Given the description of an element on the screen output the (x, y) to click on. 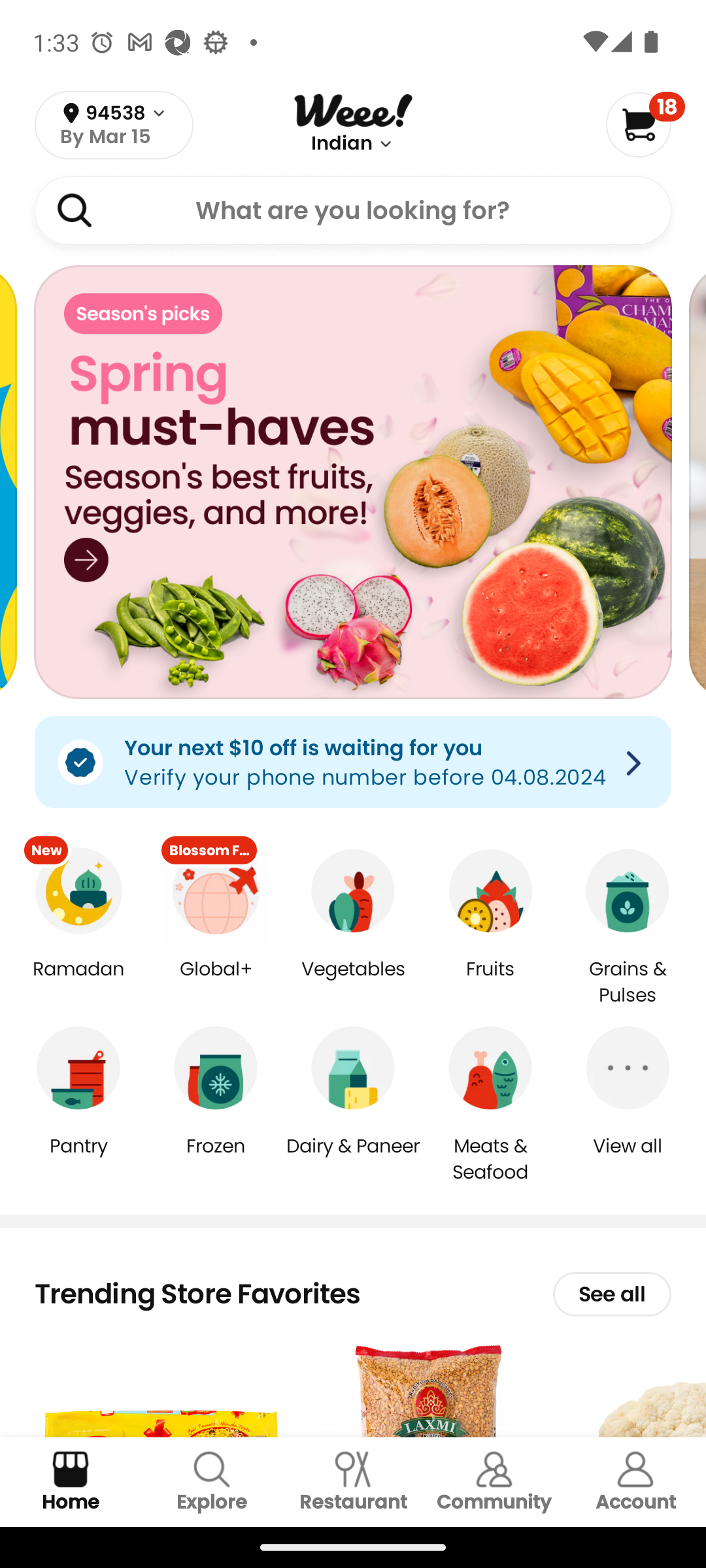
94538 By Mar 15 (113, 124)
18 (644, 124)
Indian (341, 143)
What are you looking for? (352, 209)
Ramadan (77, 982)
Global+ (215, 982)
Vegetables (352, 982)
Fruits (490, 982)
Grains & Pulses (627, 982)
Pantry (77, 1159)
Frozen (215, 1159)
Dairy & Paneer (352, 1159)
Meats & Seafood (490, 1158)
View all (627, 1159)
Home (70, 1482)
Explore (211, 1482)
Restaurant (352, 1482)
Community (493, 1482)
Account (635, 1482)
